Given the description of an element on the screen output the (x, y) to click on. 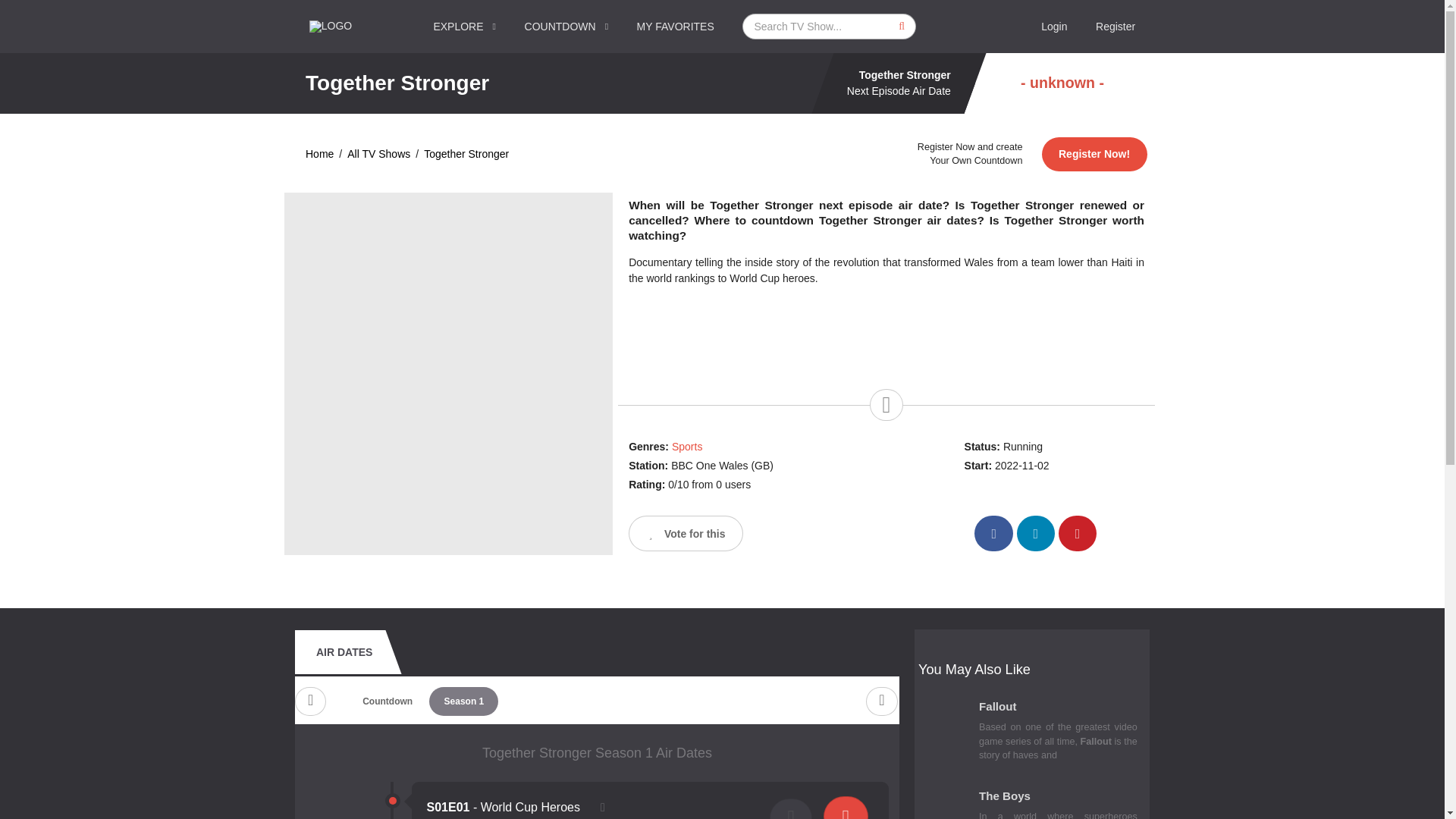
Register Now! (1094, 154)
All TV Shows (378, 154)
AIR DATES (344, 651)
The Boys (1057, 799)
MY FAVORITES (676, 26)
Vote for this (685, 533)
Register (1115, 26)
Sports (686, 446)
Season 1 (463, 701)
Together Stronger (465, 154)
Login (1053, 26)
Countdown (386, 701)
Fallout (1057, 709)
Home (319, 154)
